Given the description of an element on the screen output the (x, y) to click on. 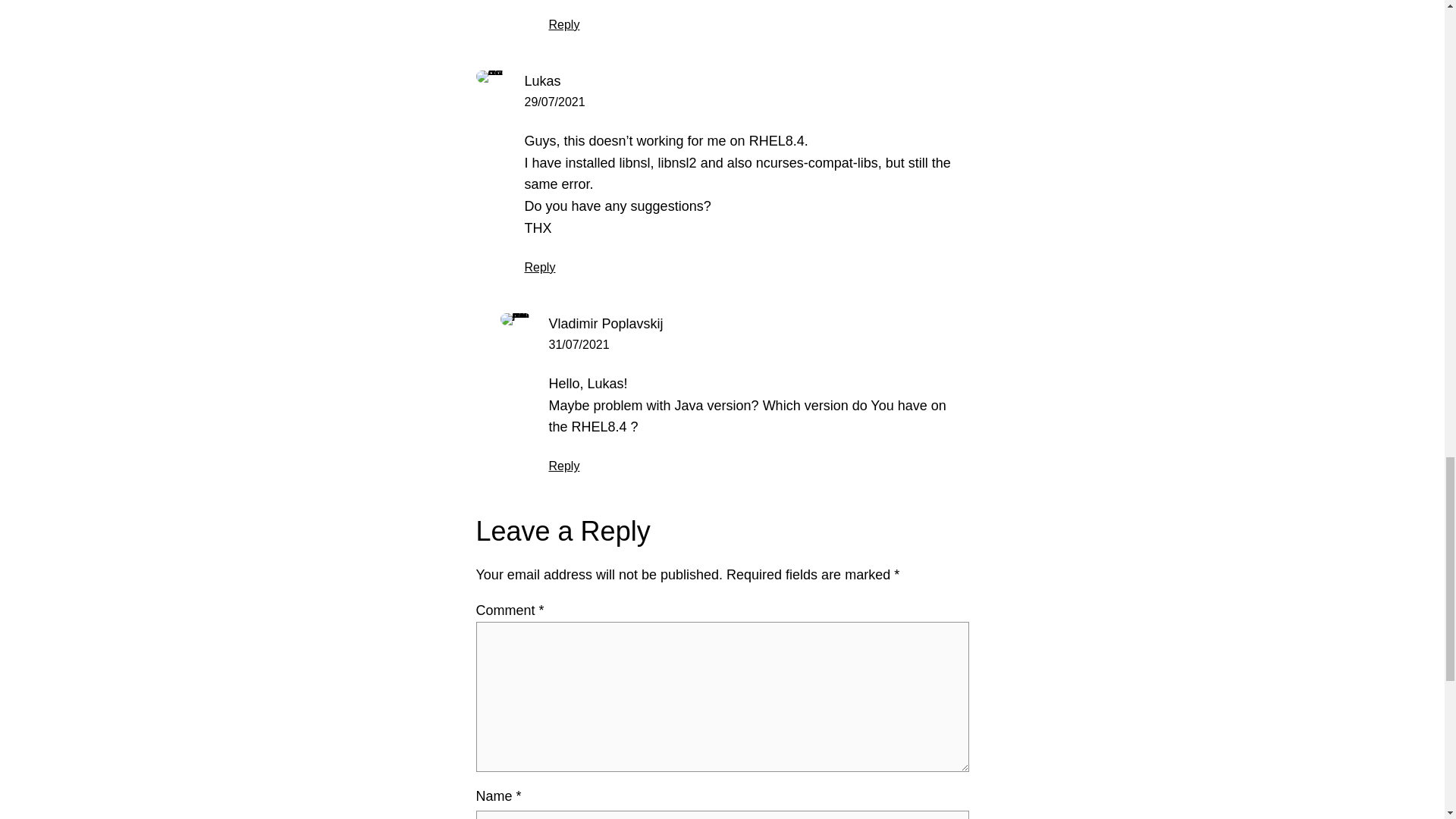
Reply (540, 267)
Reply (563, 465)
Reply (563, 24)
